Given the description of an element on the screen output the (x, y) to click on. 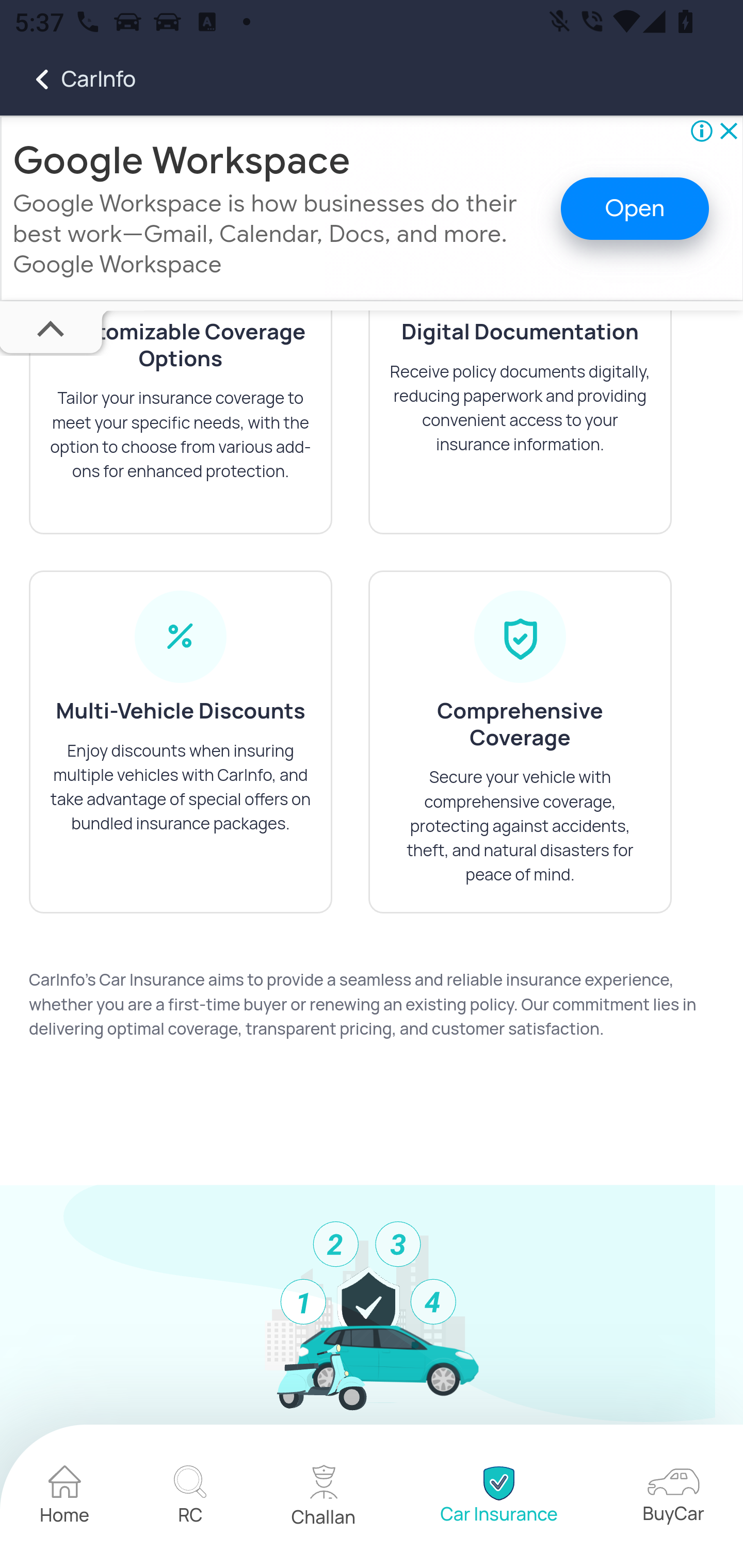
CarInfo (67, 79)
Google Workspace (182, 161)
Open (634, 209)
home Challan home Challan (323, 1497)
home Home home Home (64, 1498)
home RC home RC (190, 1498)
home Car Insurance home Car Insurance (497, 1498)
home BuyCar home BuyCar (672, 1497)
